Given the description of an element on the screen output the (x, y) to click on. 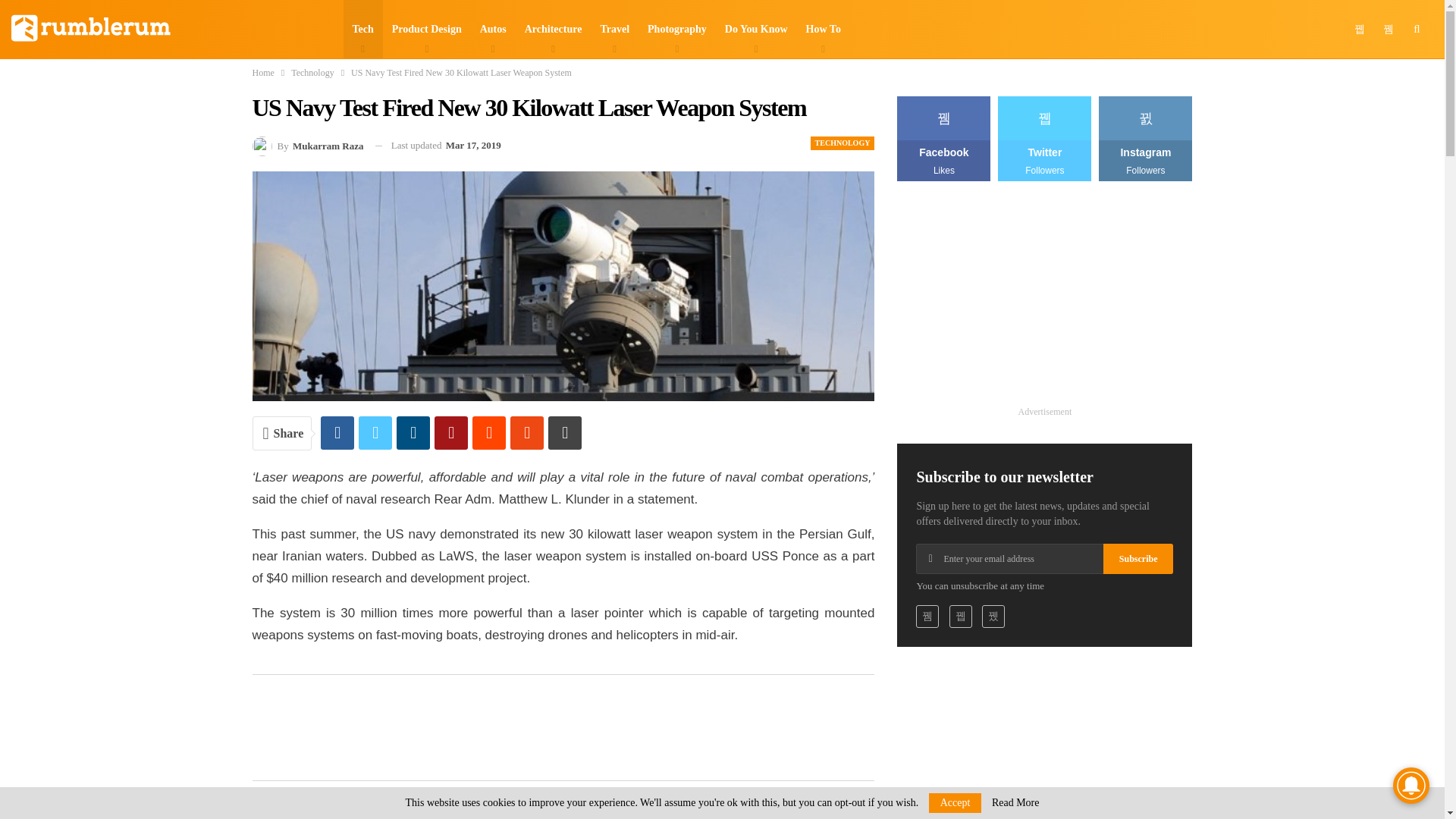
Product Design (426, 29)
